Given the description of an element on the screen output the (x, y) to click on. 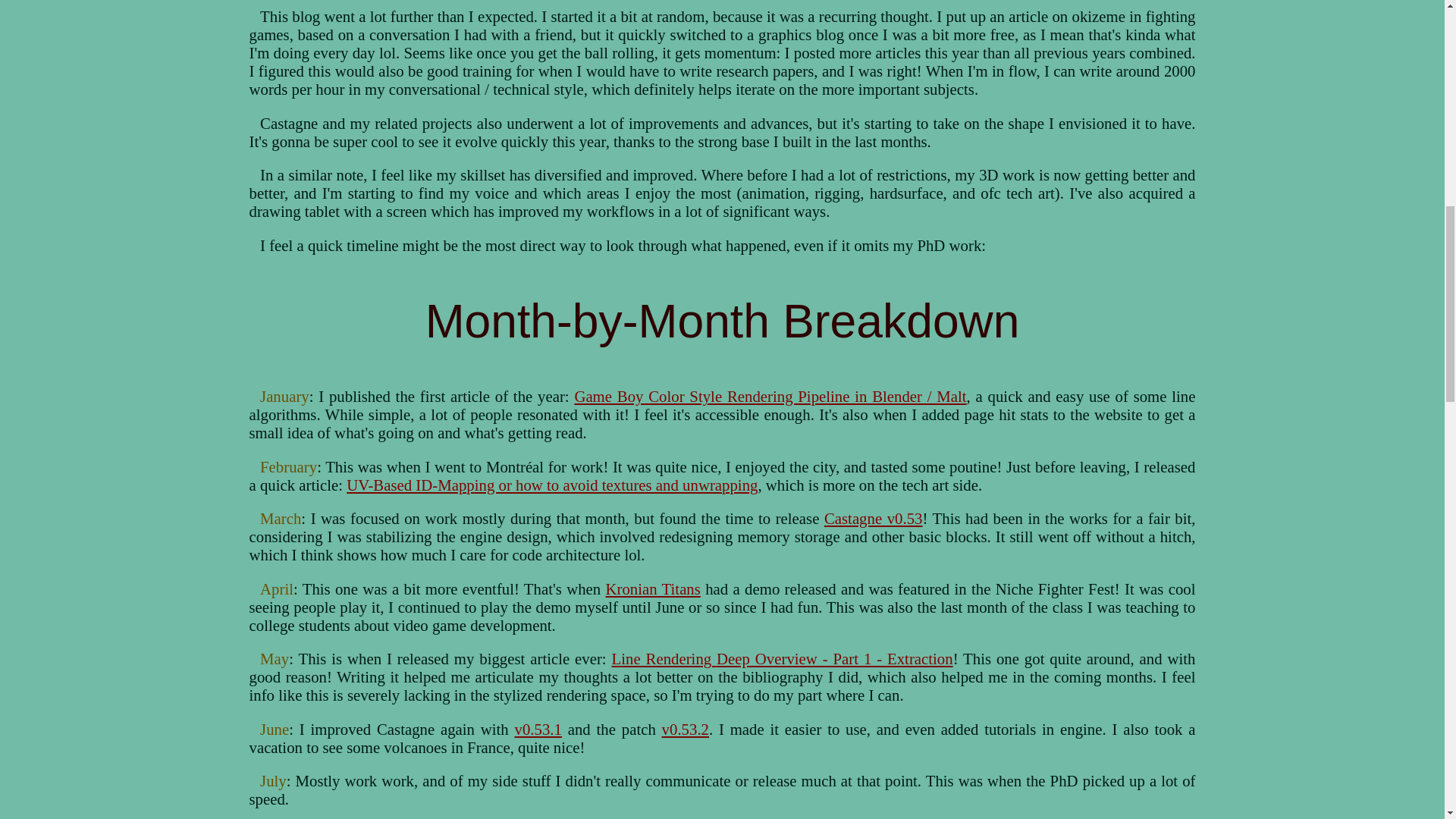
UV-Based ID-Mapping or how to avoid textures and unwrapping (551, 484)
v0.53.1 (538, 728)
Castagne v0.53 (873, 518)
v0.53.2 (685, 728)
Kronian Titans (652, 588)
Line Rendering Deep Overview - Part 1 - Extraction (782, 658)
